Given the description of an element on the screen output the (x, y) to click on. 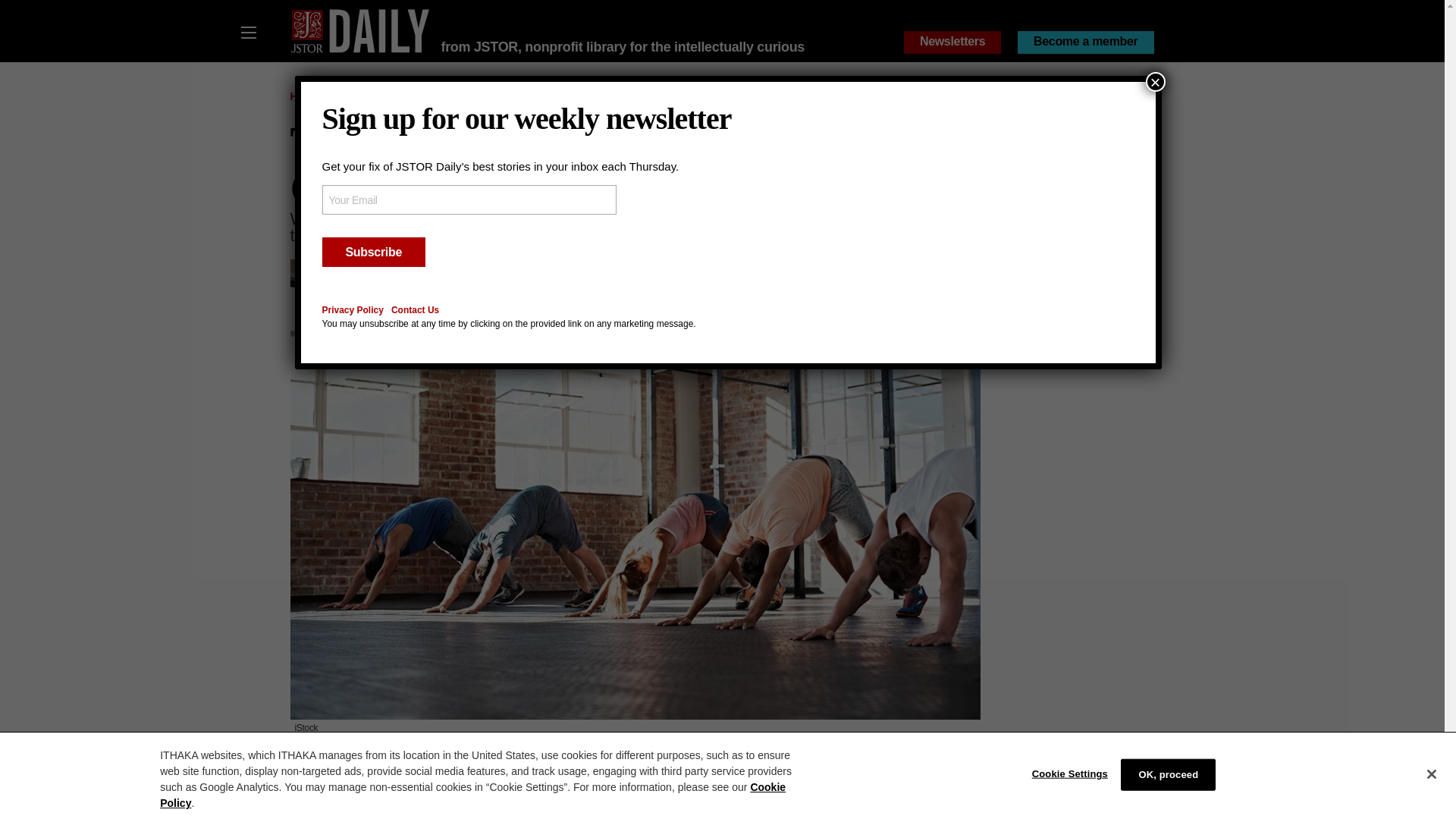
from JSTOR, nonprofit library for the intellectually curious (623, 46)
Newsletters (952, 42)
Become a member (1085, 42)
Subscribe (373, 251)
